Given the description of an element on the screen output the (x, y) to click on. 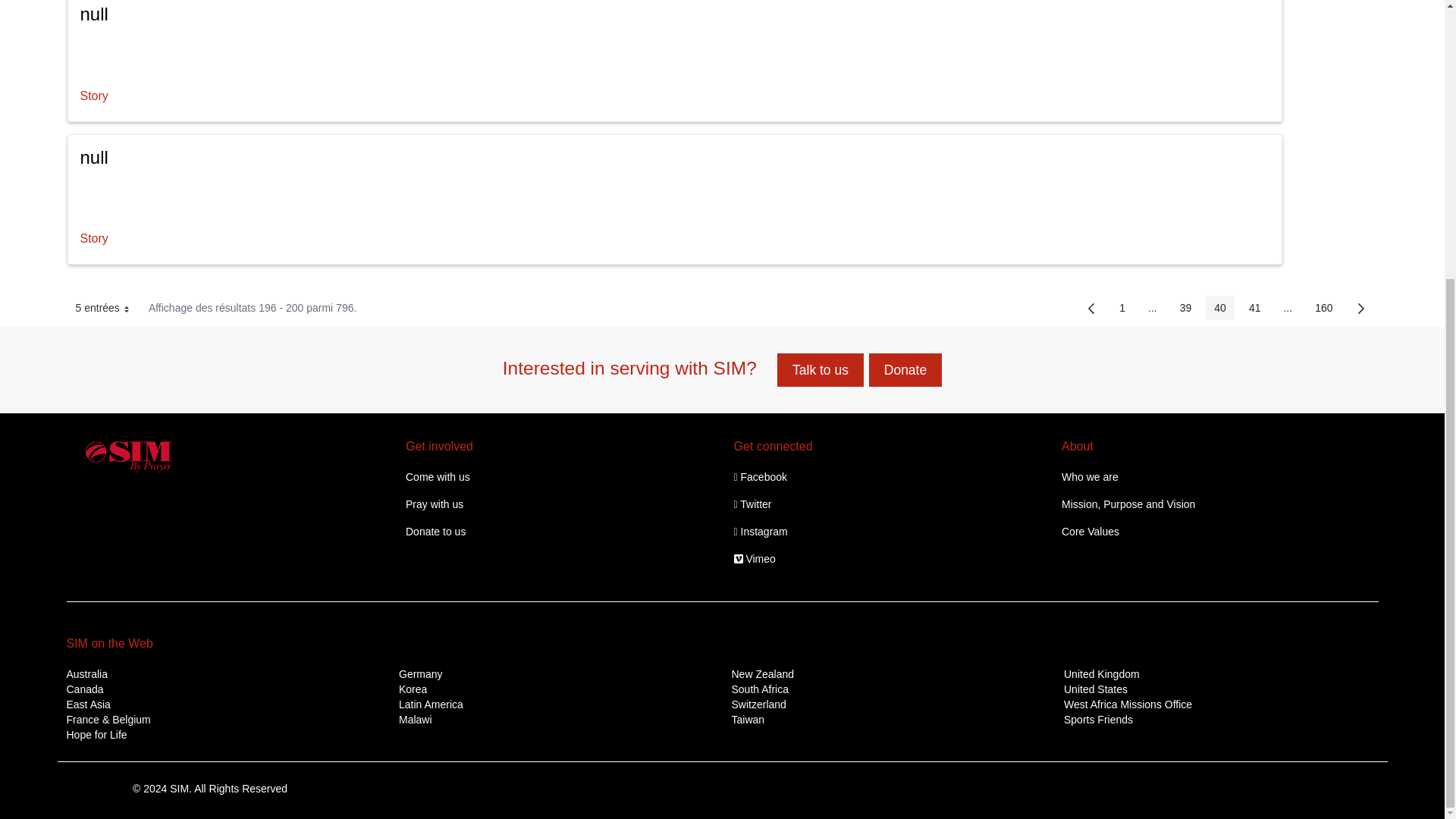
Prochaine Page (1361, 307)
